Given the description of an element on the screen output the (x, y) to click on. 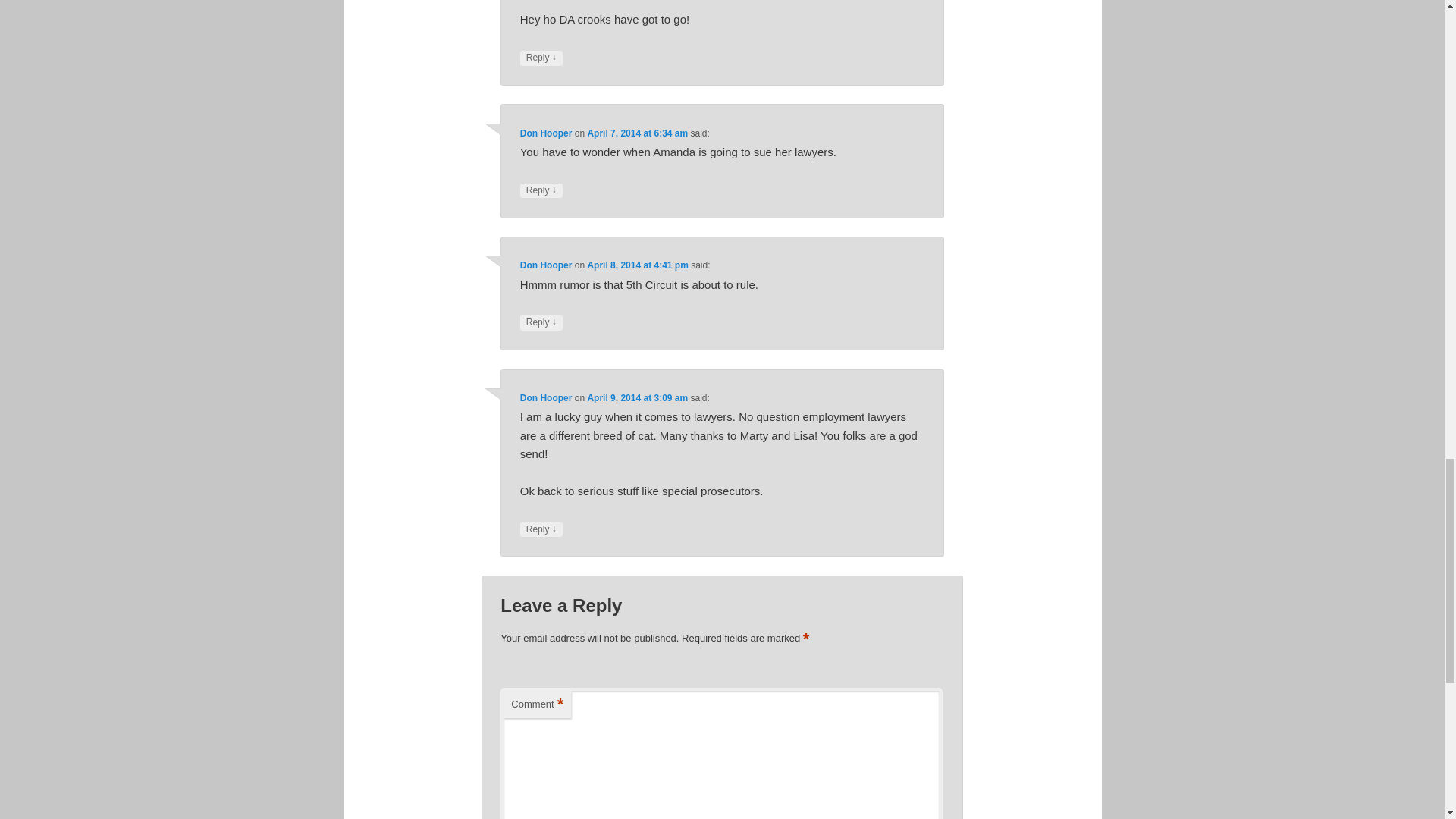
Don Hooper (545, 132)
Don Hooper (545, 398)
April 7, 2014 at 6:34 am (636, 132)
Don Hooper (545, 265)
April 8, 2014 at 4:41 pm (636, 265)
April 9, 2014 at 3:09 am (636, 398)
